Given the description of an element on the screen output the (x, y) to click on. 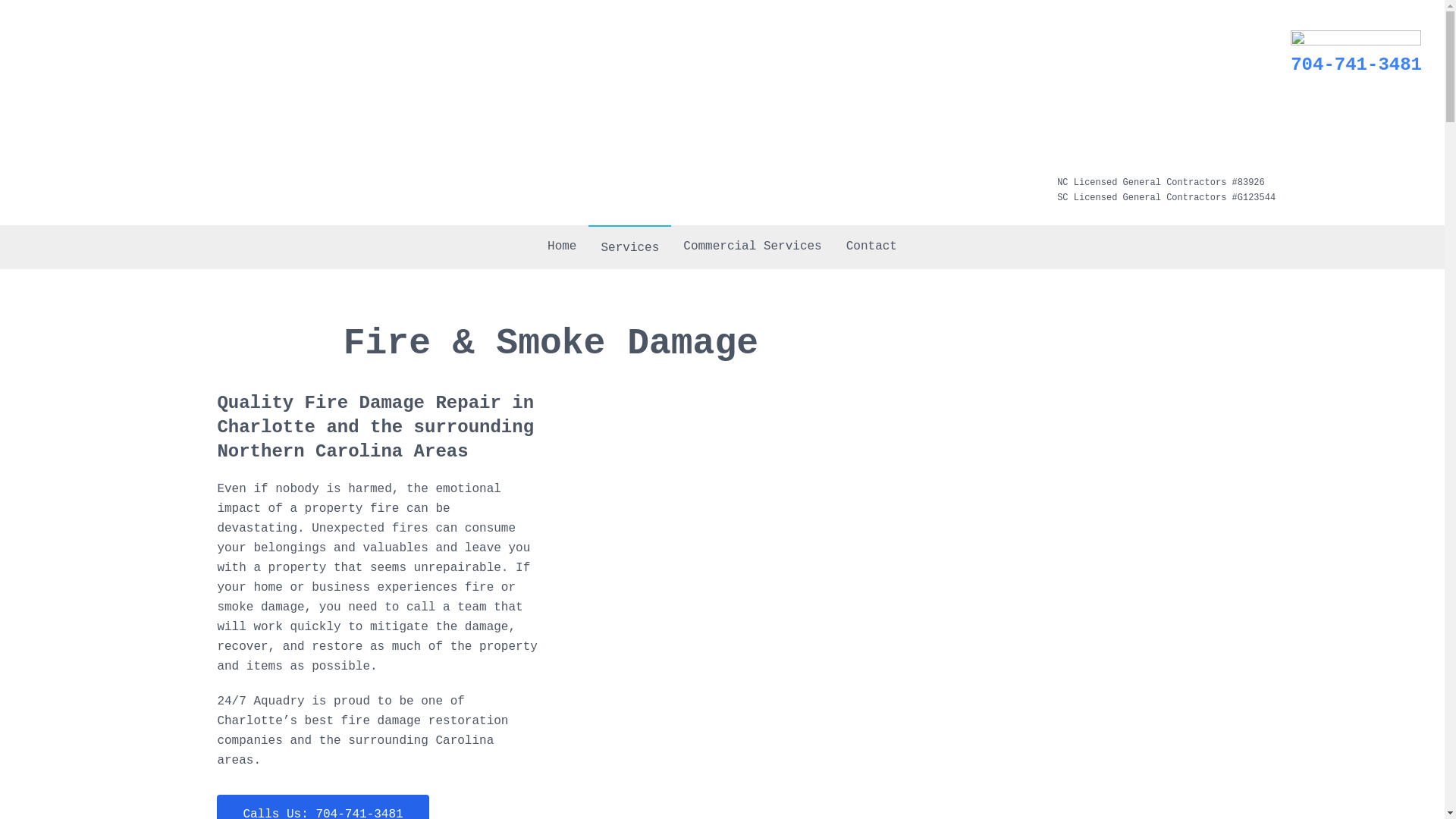
704-741-3481 Element type: text (1355, 64)
Contact Element type: text (871, 246)
Commercial Services Element type: text (752, 246)
Services Element type: text (629, 247)
Home Element type: text (561, 246)
